Given the description of an element on the screen output the (x, y) to click on. 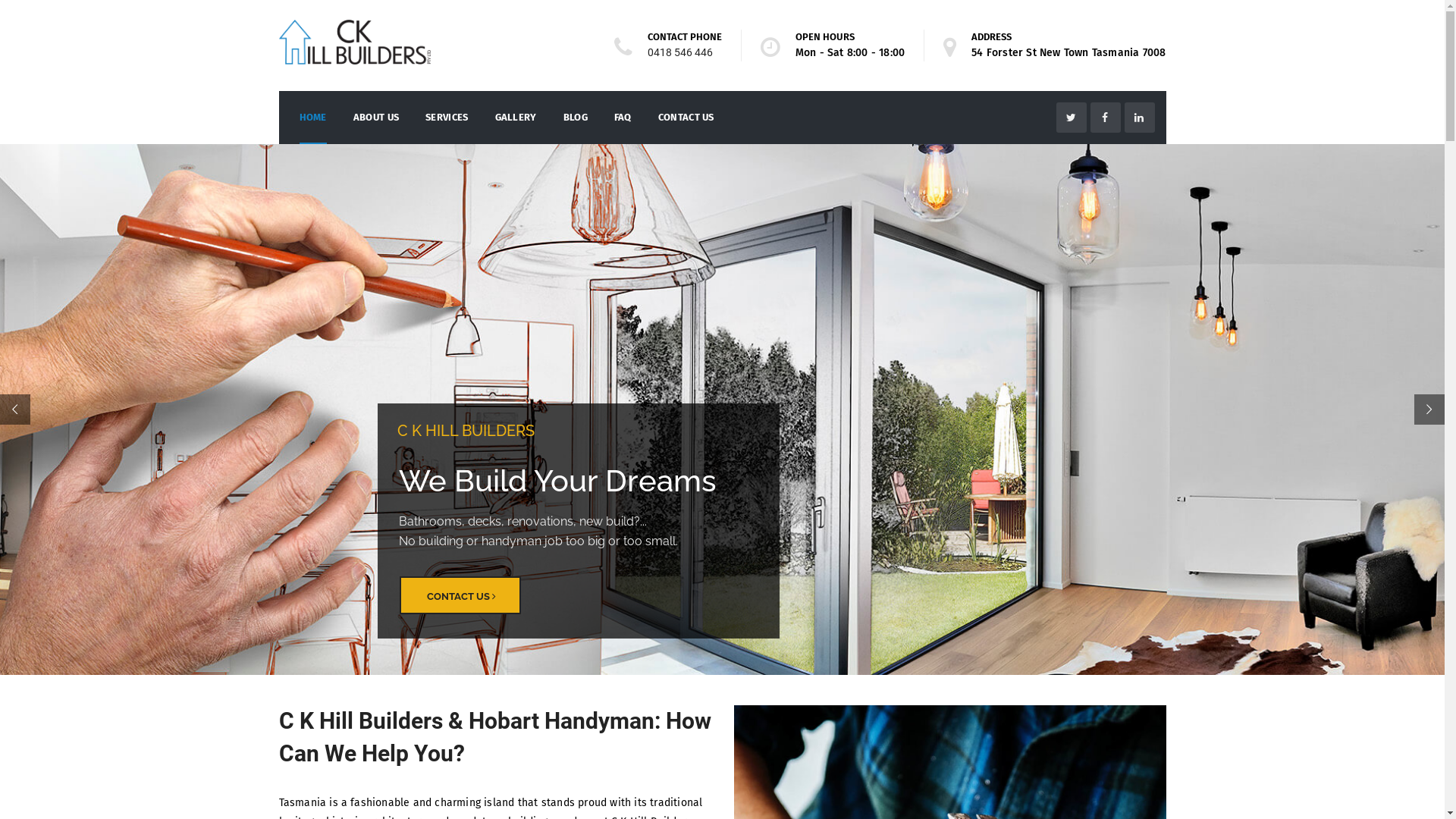
BLOG Element type: text (575, 117)
CONTACT US Element type: text (459, 595)
HOME Element type: text (312, 117)
SERVICES Element type: text (446, 117)
0418 546 446 Element type: text (679, 52)
ABOUT US Element type: text (375, 117)
FAQ Element type: text (622, 117)
GALLERY Element type: text (515, 117)
CONTACT US Element type: text (686, 117)
